Given the description of an element on the screen output the (x, y) to click on. 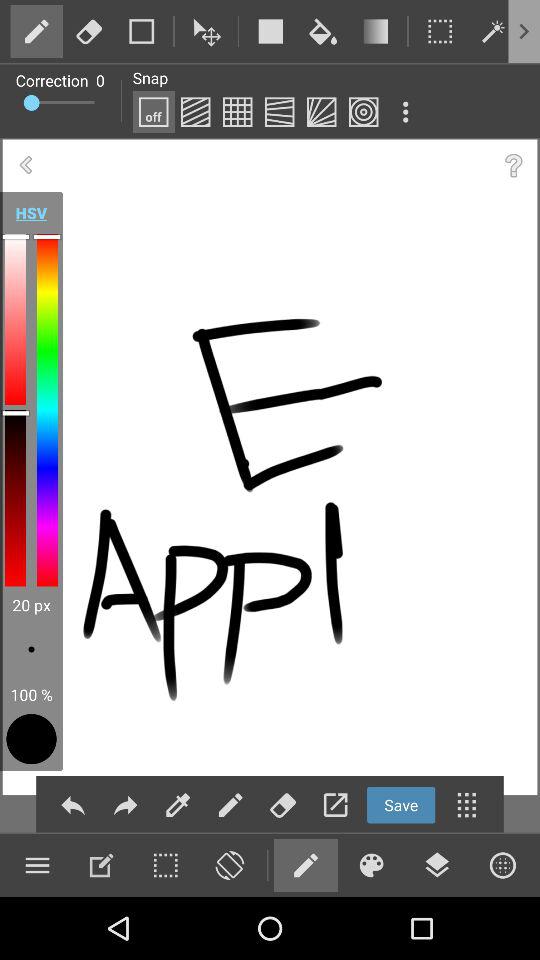
eraser (89, 31)
